Given the description of an element on the screen output the (x, y) to click on. 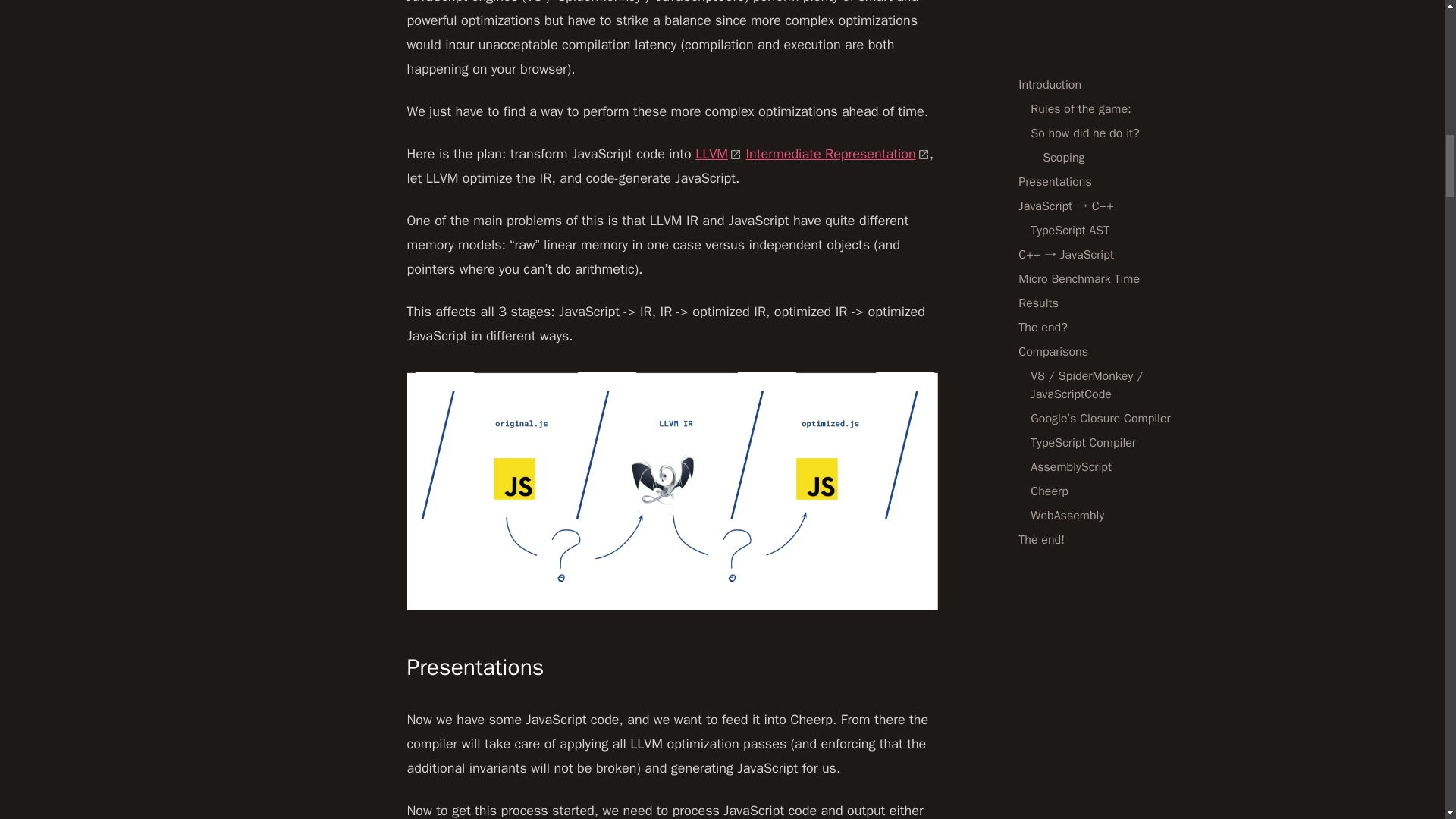
Intermediate Representation (836, 153)
LLVM (718, 153)
